Given the description of an element on the screen output the (x, y) to click on. 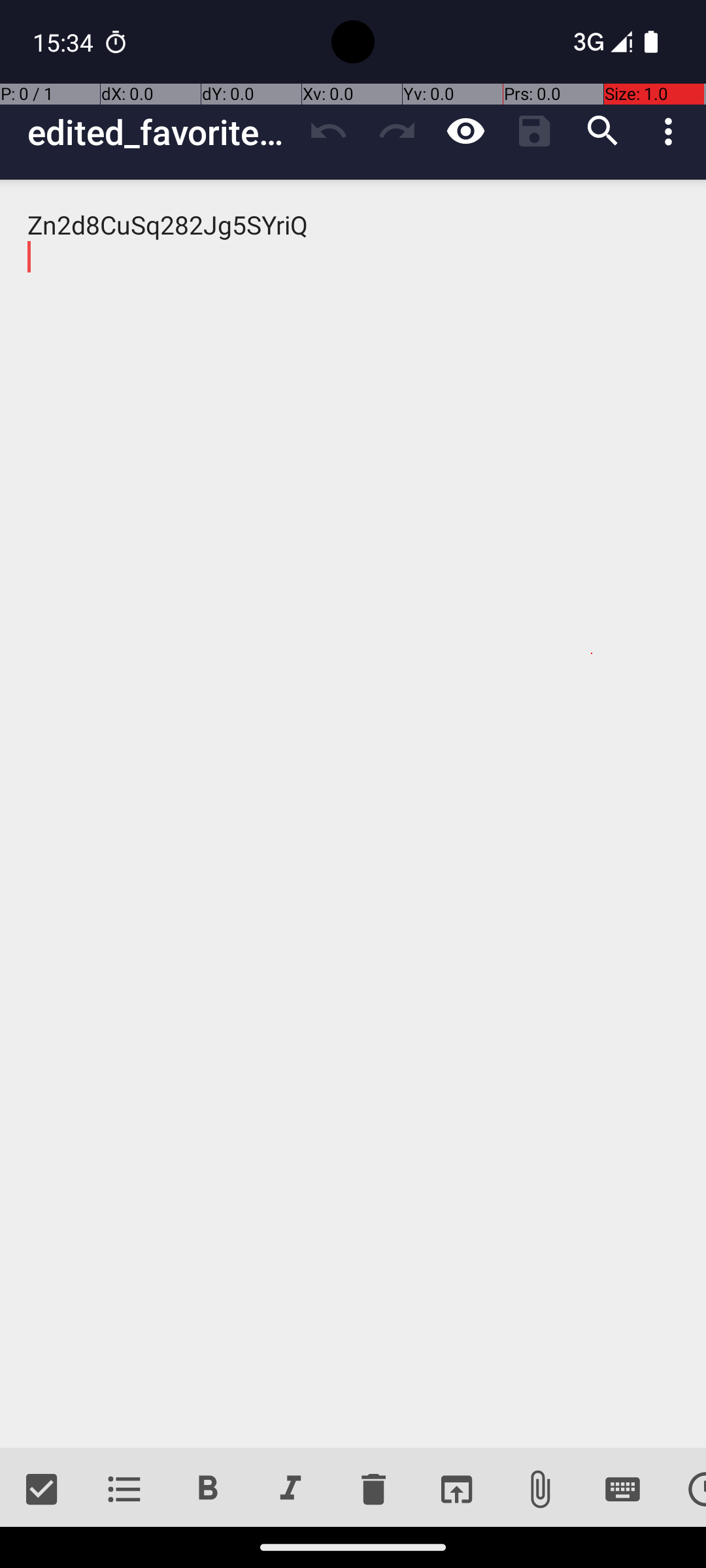
edited_favorite_book_quotes Element type: android.widget.TextView (160, 131)
Zn2d8CuSq282Jg5SYriQ
 Element type: android.widget.EditText (353, 813)
